Given the description of an element on the screen output the (x, y) to click on. 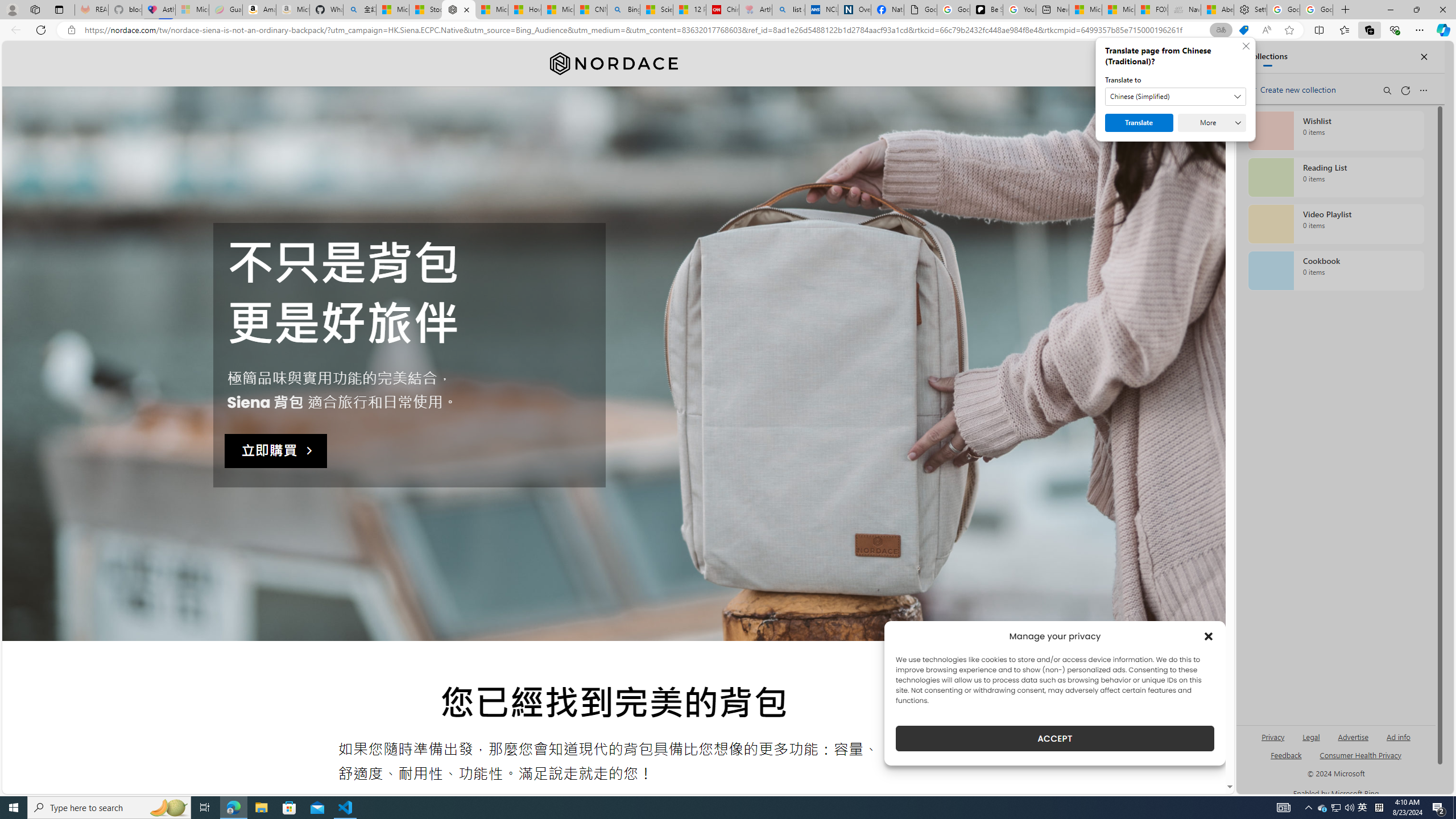
Class: cmplz-close (1208, 636)
CNN - MSN (590, 9)
Translate to (1175, 96)
